Given the description of an element on the screen output the (x, y) to click on. 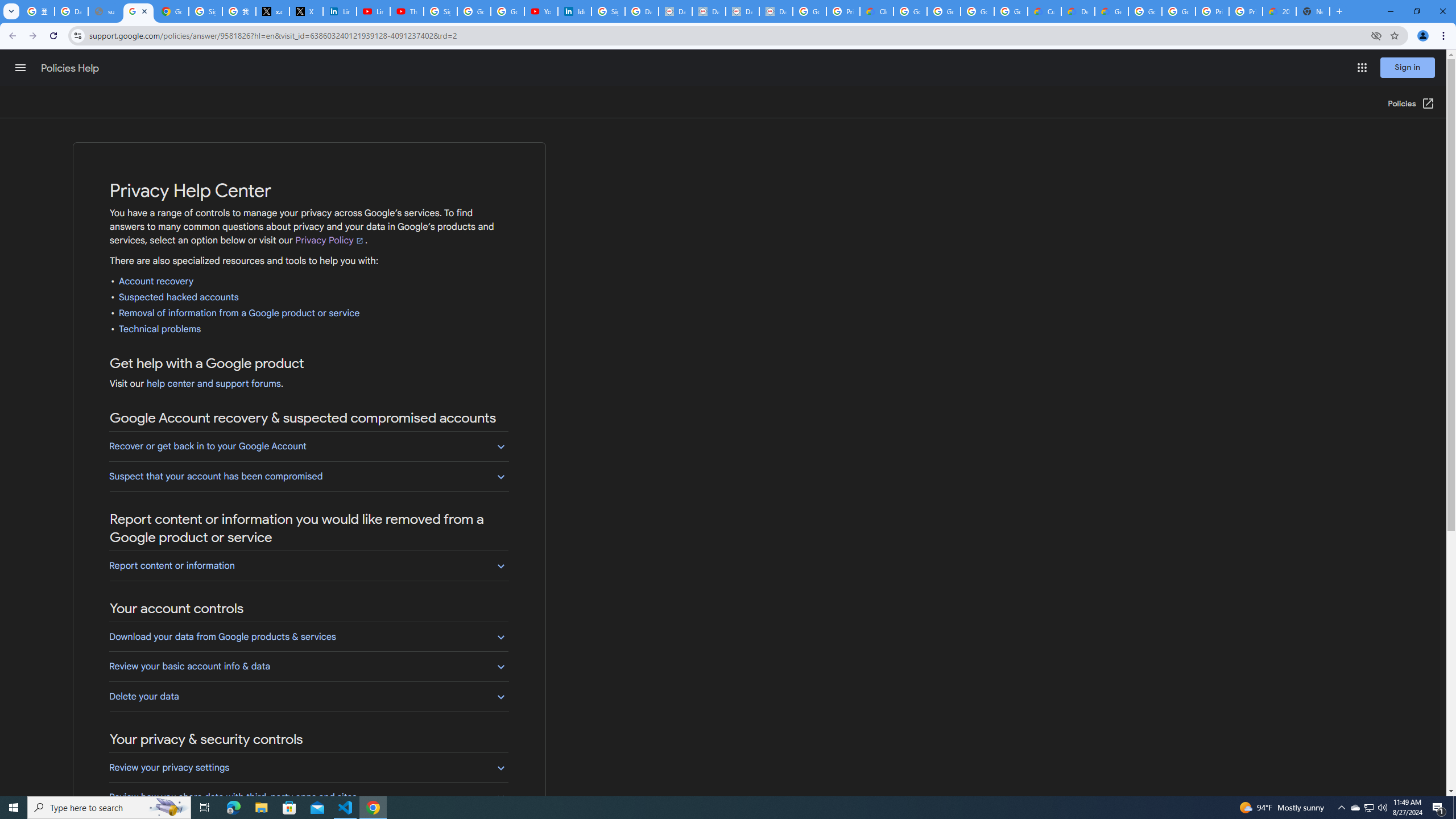
support.google.com - Network error (104, 11)
Google Cloud Platform (1144, 11)
Data Privacy Framework (742, 11)
Policies (Open in a new window) (1411, 103)
help center and support forums (213, 383)
